Given the description of an element on the screen output the (x, y) to click on. 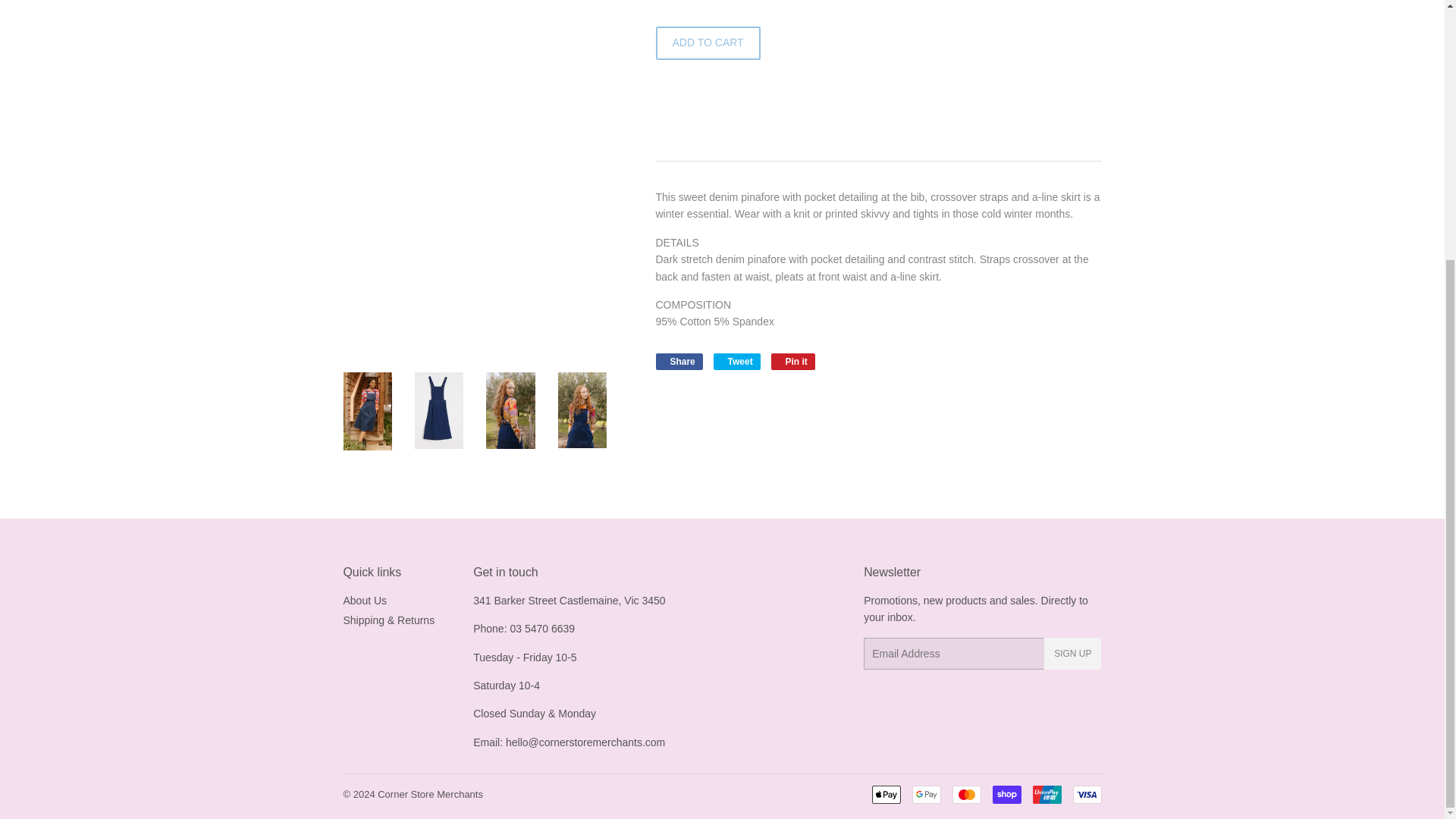
Visa (1085, 794)
ADD TO CART (707, 42)
Shop Pay (1005, 794)
Share on Facebook (678, 361)
Mastercard (966, 794)
Apple Pay (886, 794)
Pin on Pinterest (793, 361)
Union Pay (1046, 794)
Tweet on Twitter (736, 361)
Google Pay (925, 794)
